Given the description of an element on the screen output the (x, y) to click on. 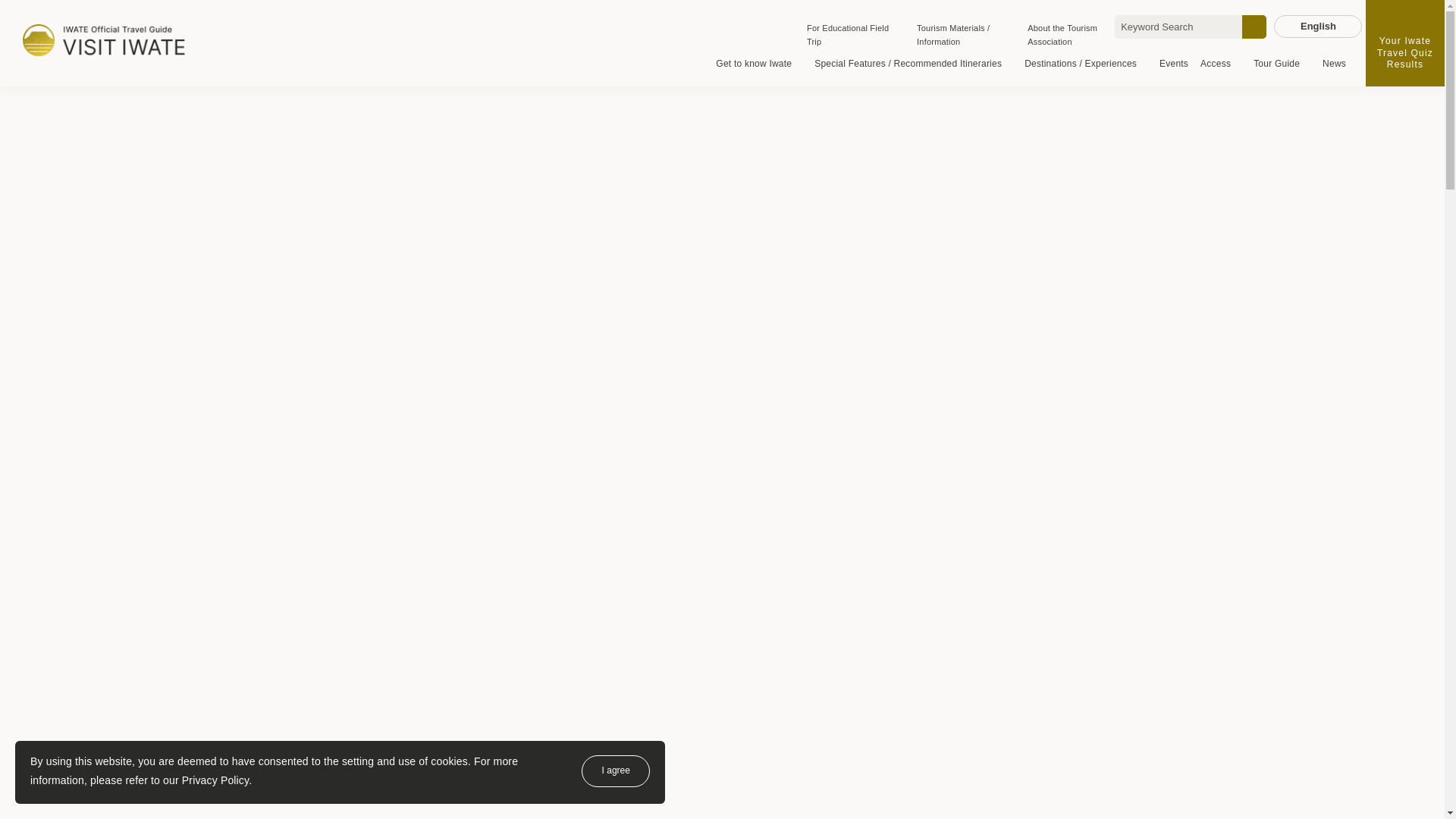
Events (1173, 63)
Access (1220, 63)
For Educational Field Trip (846, 35)
English (1317, 26)
I agree (614, 771)
Tour Guide (1281, 63)
News (1333, 63)
Get to know Iwate (759, 63)
